Given the description of an element on the screen output the (x, y) to click on. 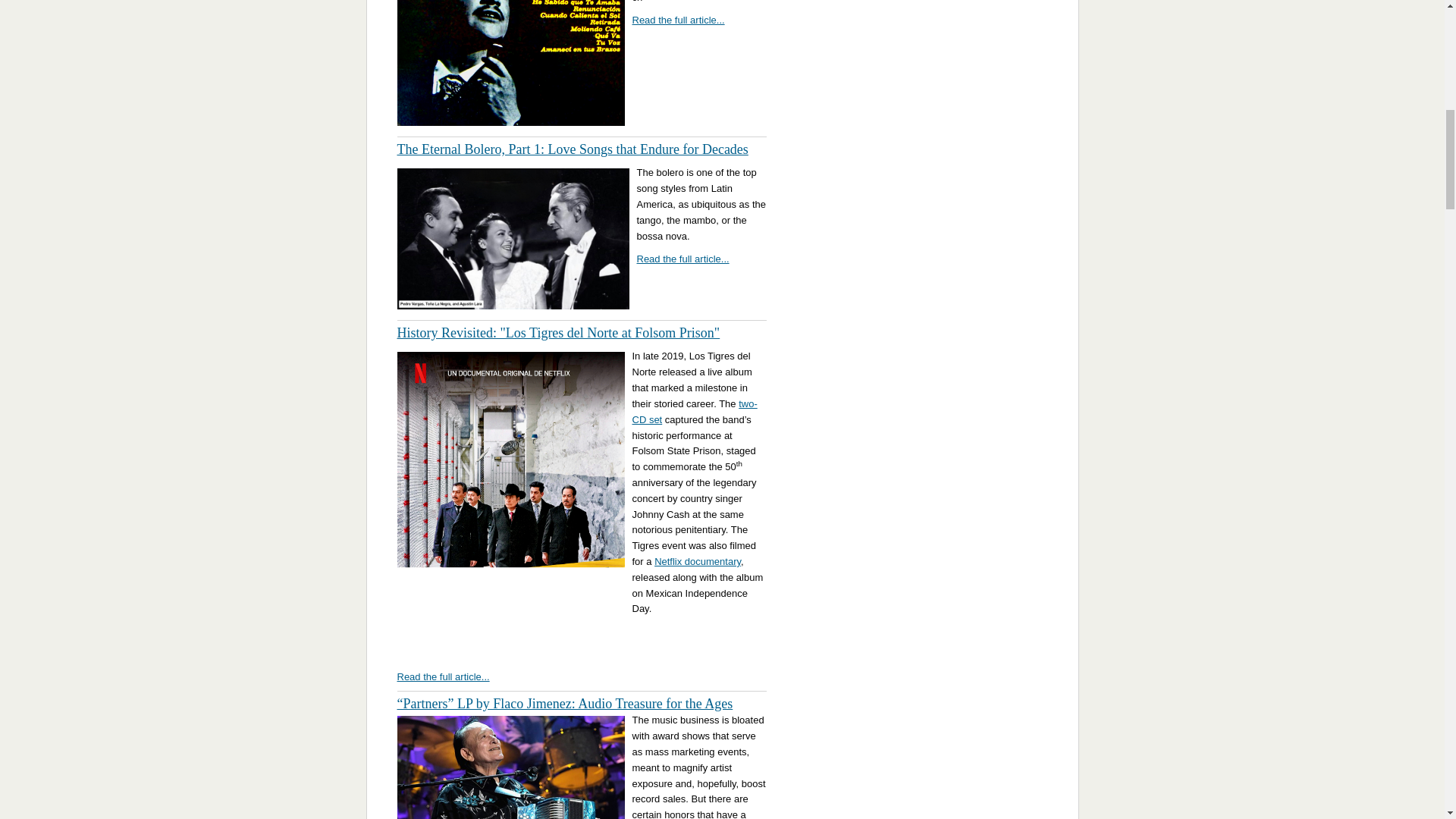
Read the full article... (683, 258)
Netflix documentary (697, 561)
Read the full article... (443, 676)
History Revisited: "Los Tigres del Norte at Folsom Prison" (558, 332)
Read the full article... (678, 19)
two-CD set (694, 411)
